Given the description of an element on the screen output the (x, y) to click on. 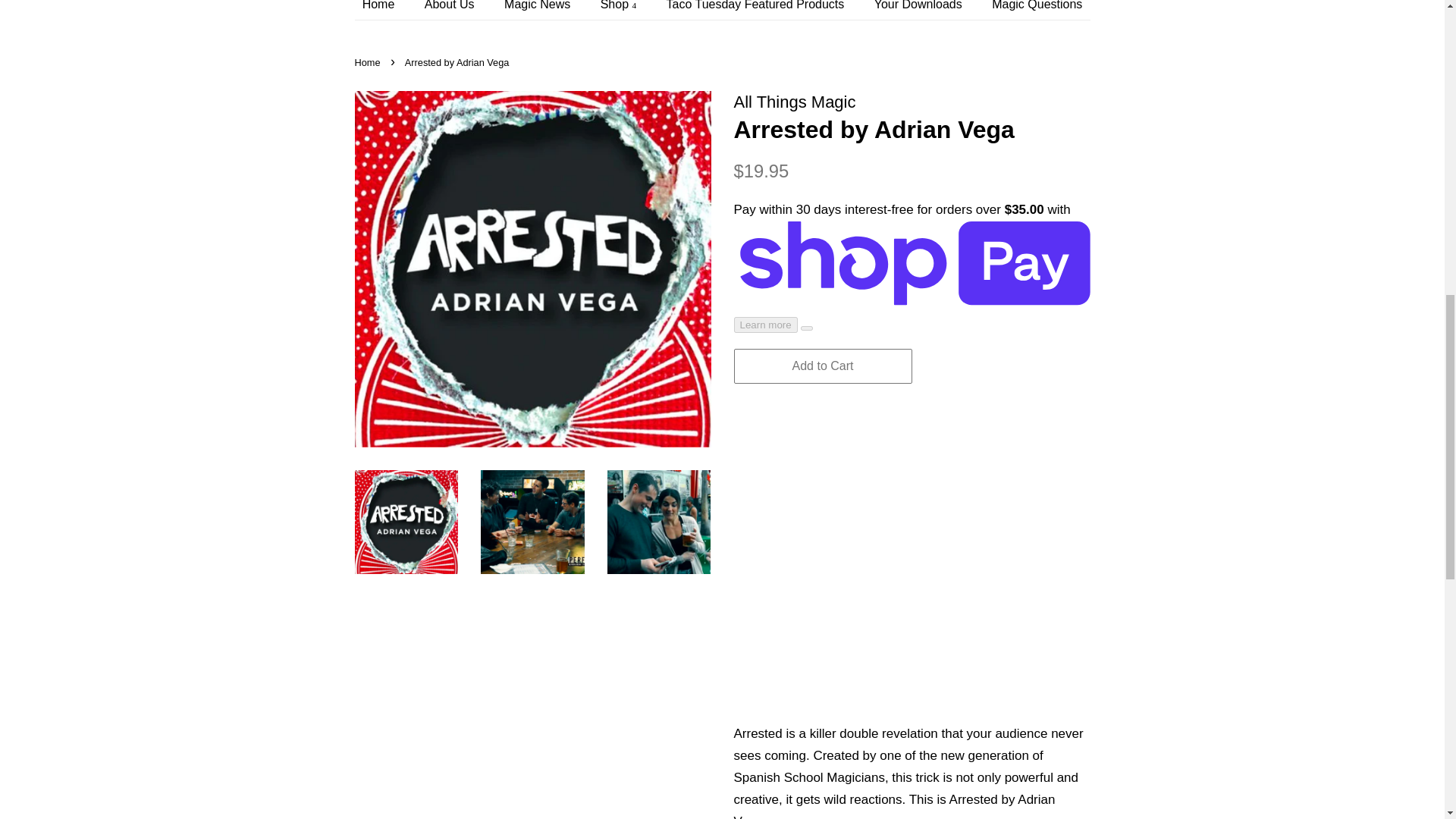
Add to Cart (822, 366)
Home (369, 61)
Home (386, 9)
YouTube video player (911, 595)
Your Downloads (919, 9)
Magic News (539, 9)
Taco Tuesday Featured Products (757, 9)
Back to the frontpage (369, 61)
Shop (619, 9)
Magic Questions (1030, 9)
